Given the description of an element on the screen output the (x, y) to click on. 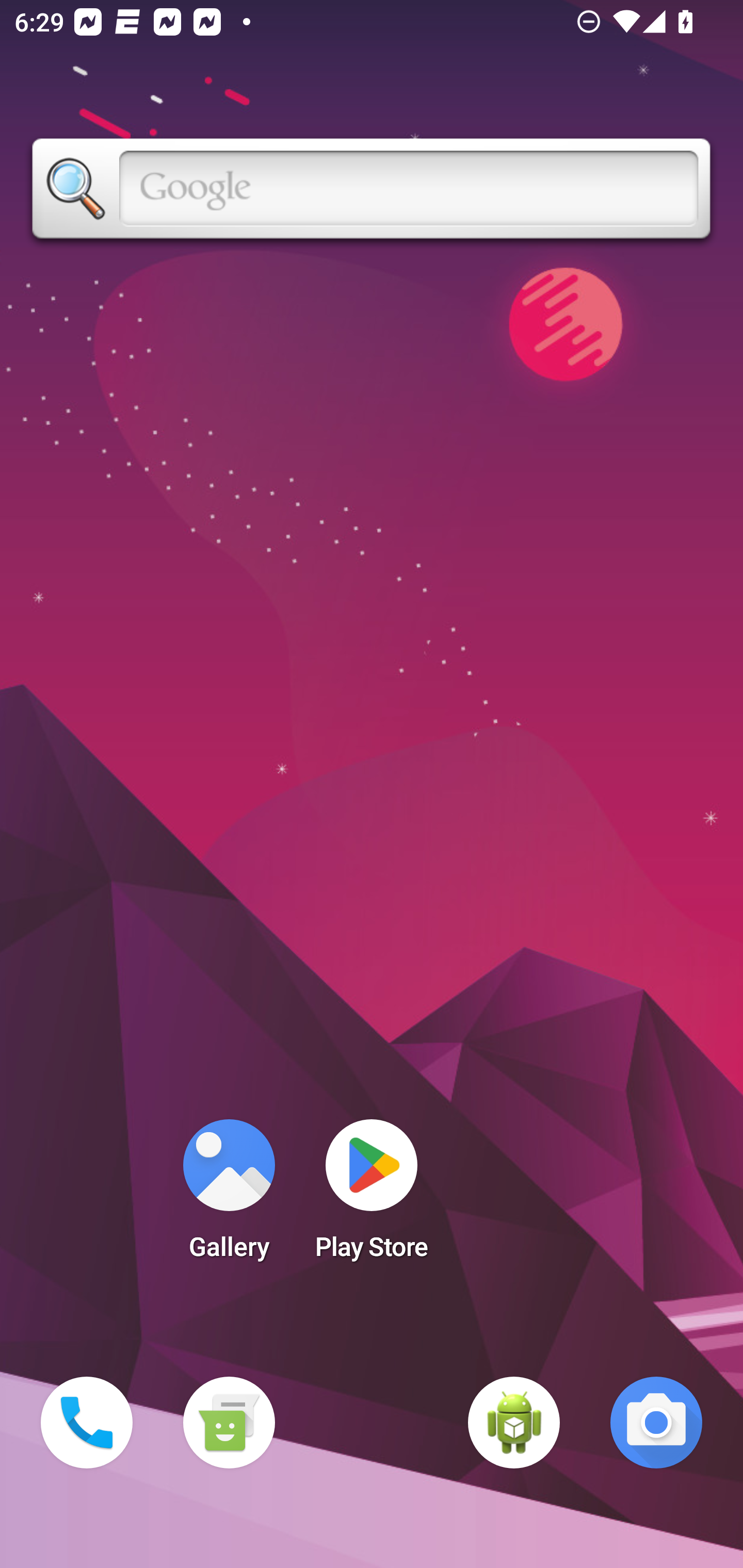
Gallery (228, 1195)
Play Store (371, 1195)
Phone (86, 1422)
Messaging (228, 1422)
WebView Browser Tester (513, 1422)
Camera (656, 1422)
